Given the description of an element on the screen output the (x, y) to click on. 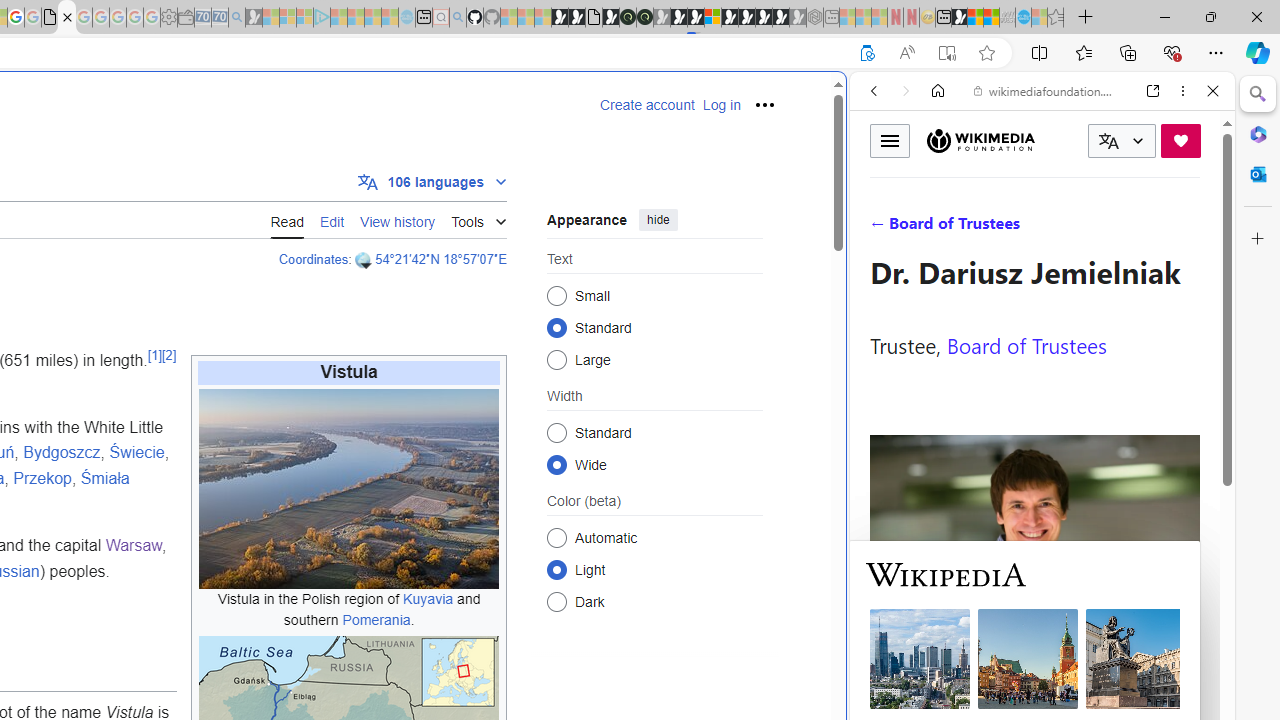
Earth has six continents not seven, radical new study claims (991, 17)
Wide (556, 464)
Search Filter, WEB (882, 228)
Forward (906, 91)
World - MSN (975, 17)
Play Free Online Games | Games from Microsoft Start (746, 17)
google_privacy_policy_zh-CN.pdf (49, 17)
SEARCH TOOLS (1093, 228)
Play Cave FRVR in your browser | Games from Microsoft Start (343, 426)
